Given the description of an element on the screen output the (x, y) to click on. 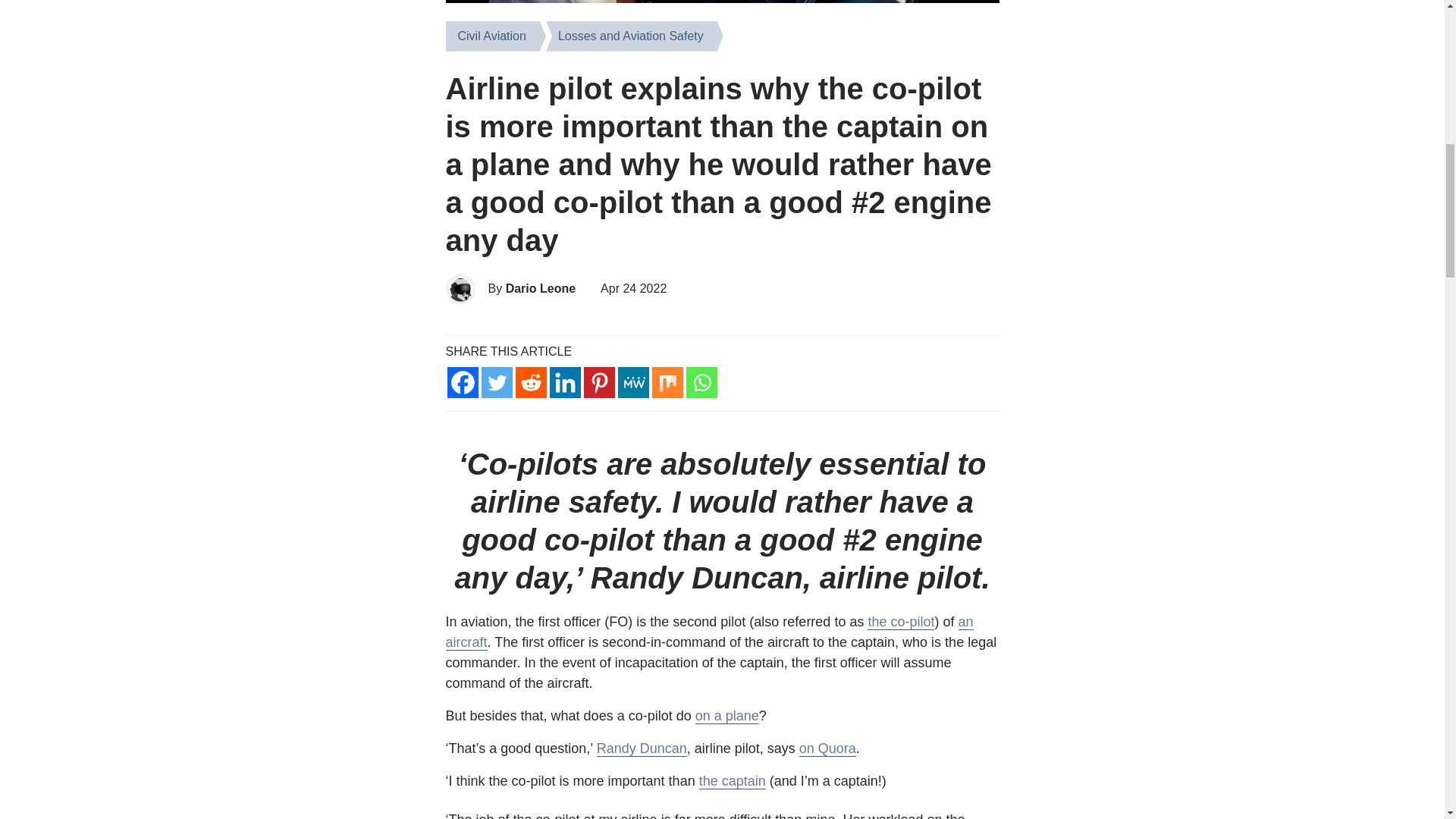
Twitter (496, 382)
Facebook (462, 382)
